Given the description of an element on the screen output the (x, y) to click on. 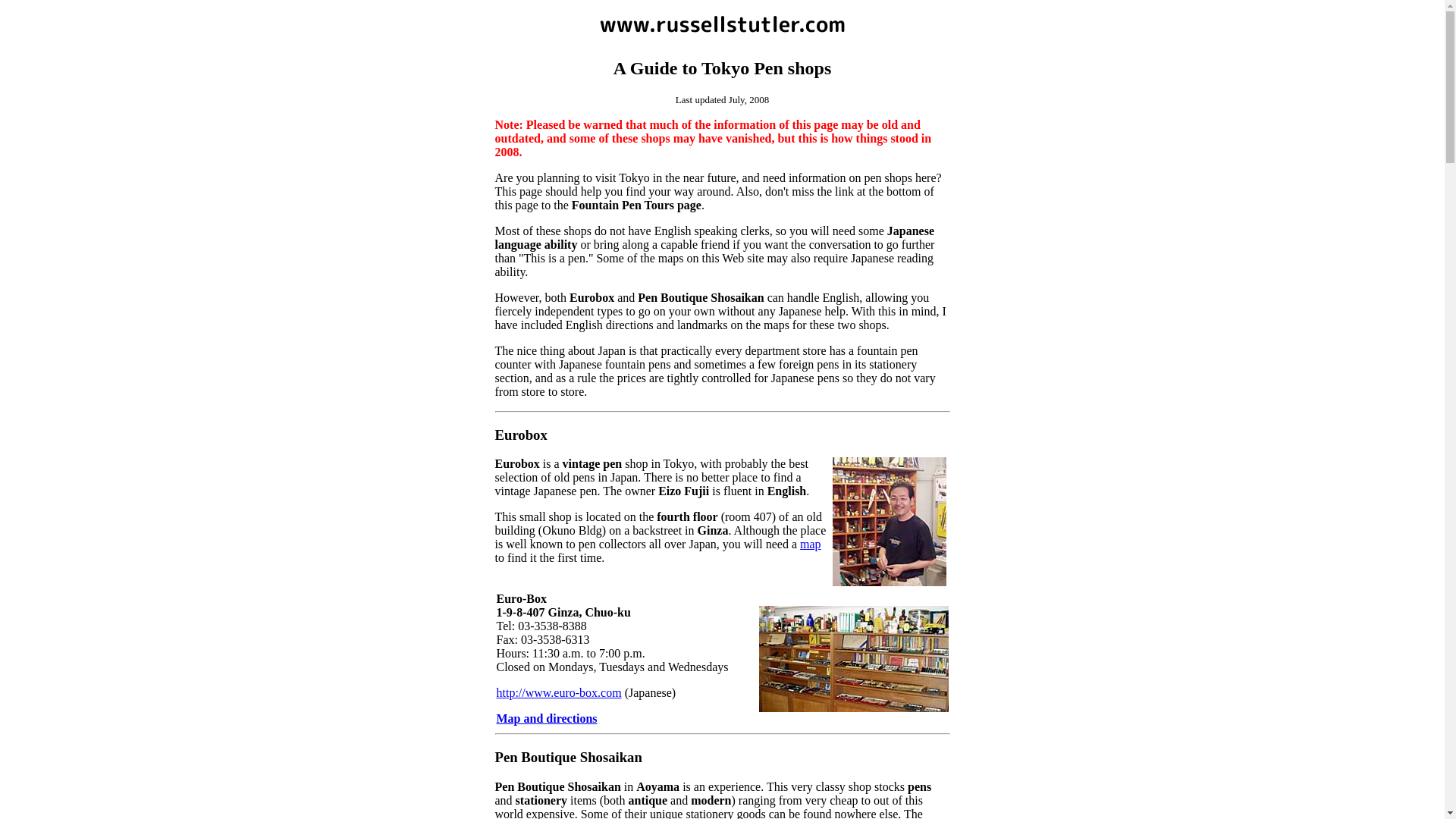
map Element type: text (810, 543)
Map and directions Element type: text (545, 718)
http://www.euro-box.com Element type: text (558, 692)
